Given the description of an element on the screen output the (x, y) to click on. 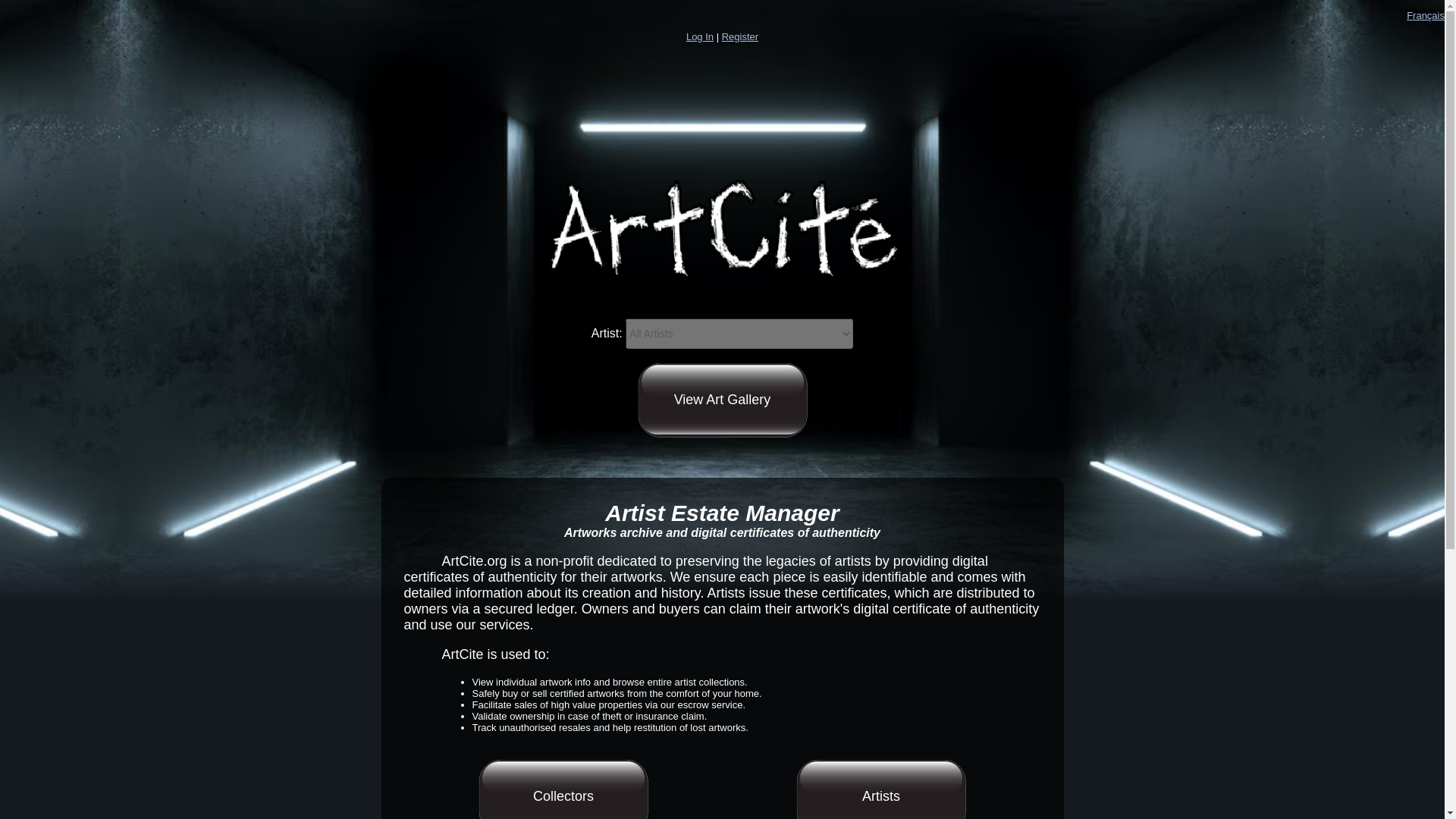
Register (740, 36)
Artists (881, 789)
View Art Gallery (721, 399)
View Art Gallery (721, 399)
Log In (699, 36)
Collectors (563, 789)
Artists (881, 789)
Collectors (563, 789)
